Given the description of an element on the screen output the (x, y) to click on. 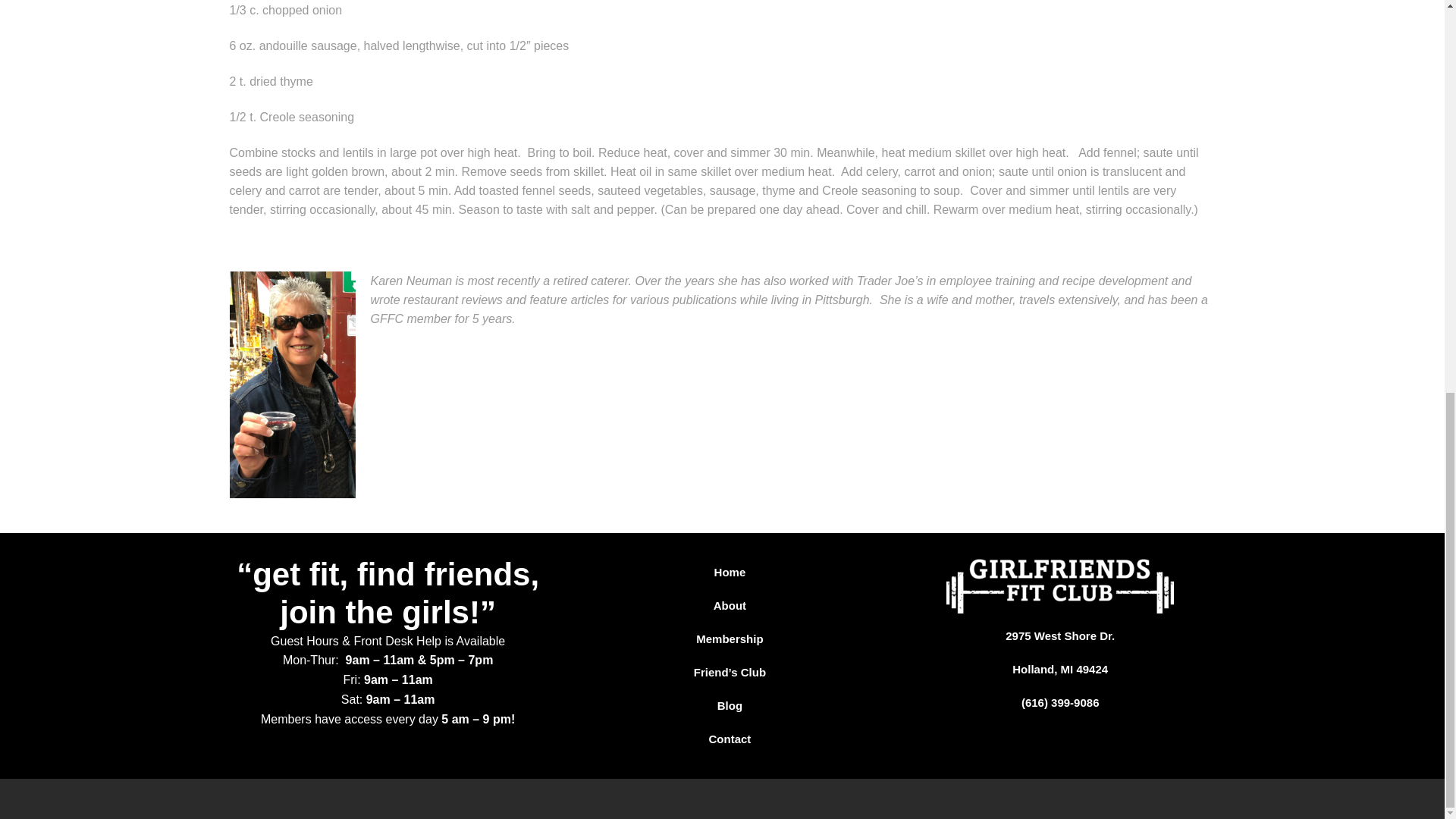
Home (729, 572)
Membership (729, 639)
About (729, 605)
